Given the description of an element on the screen output the (x, y) to click on. 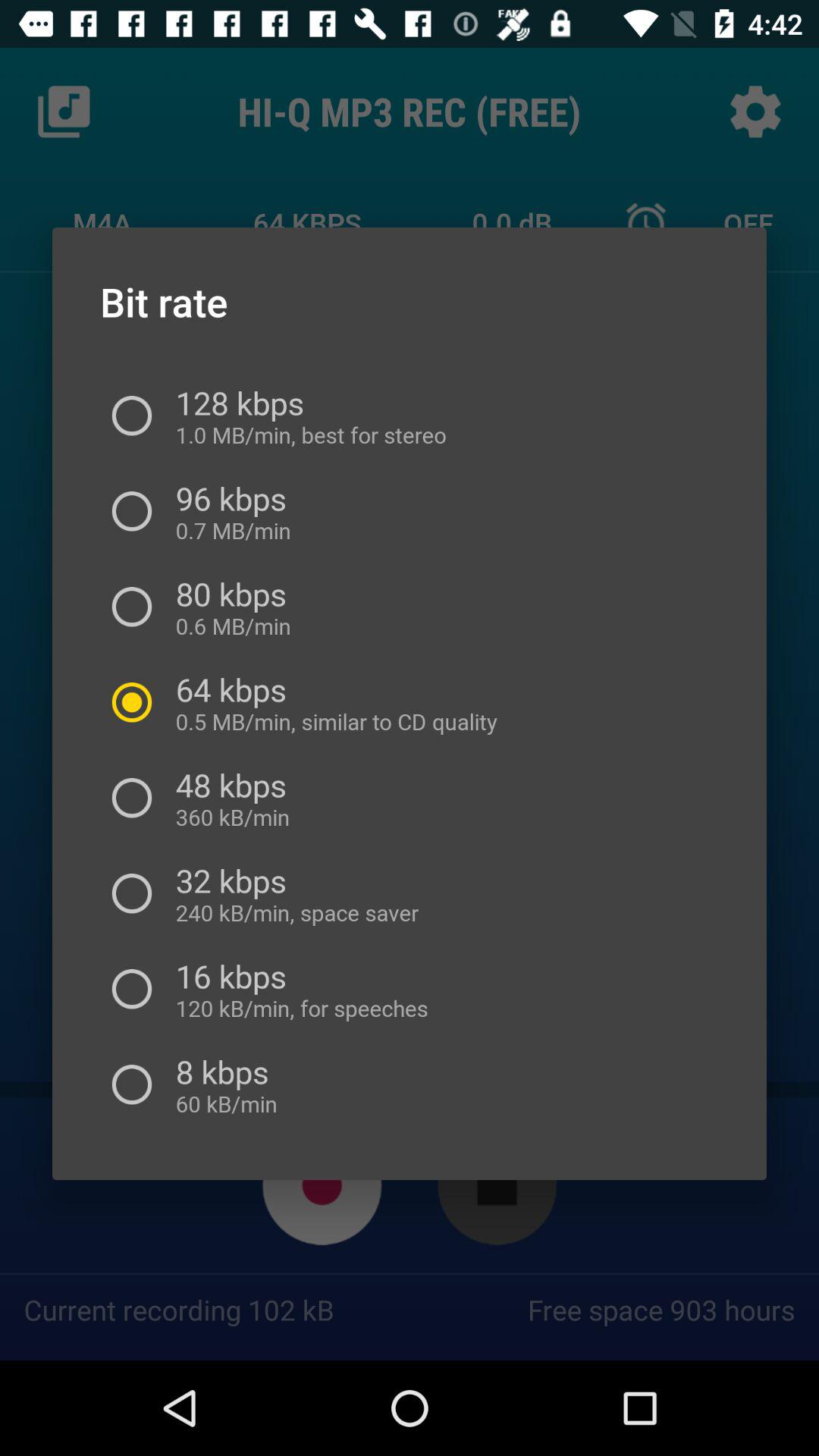
launch the 16 kbps 120 icon (295, 988)
